Given the description of an element on the screen output the (x, y) to click on. 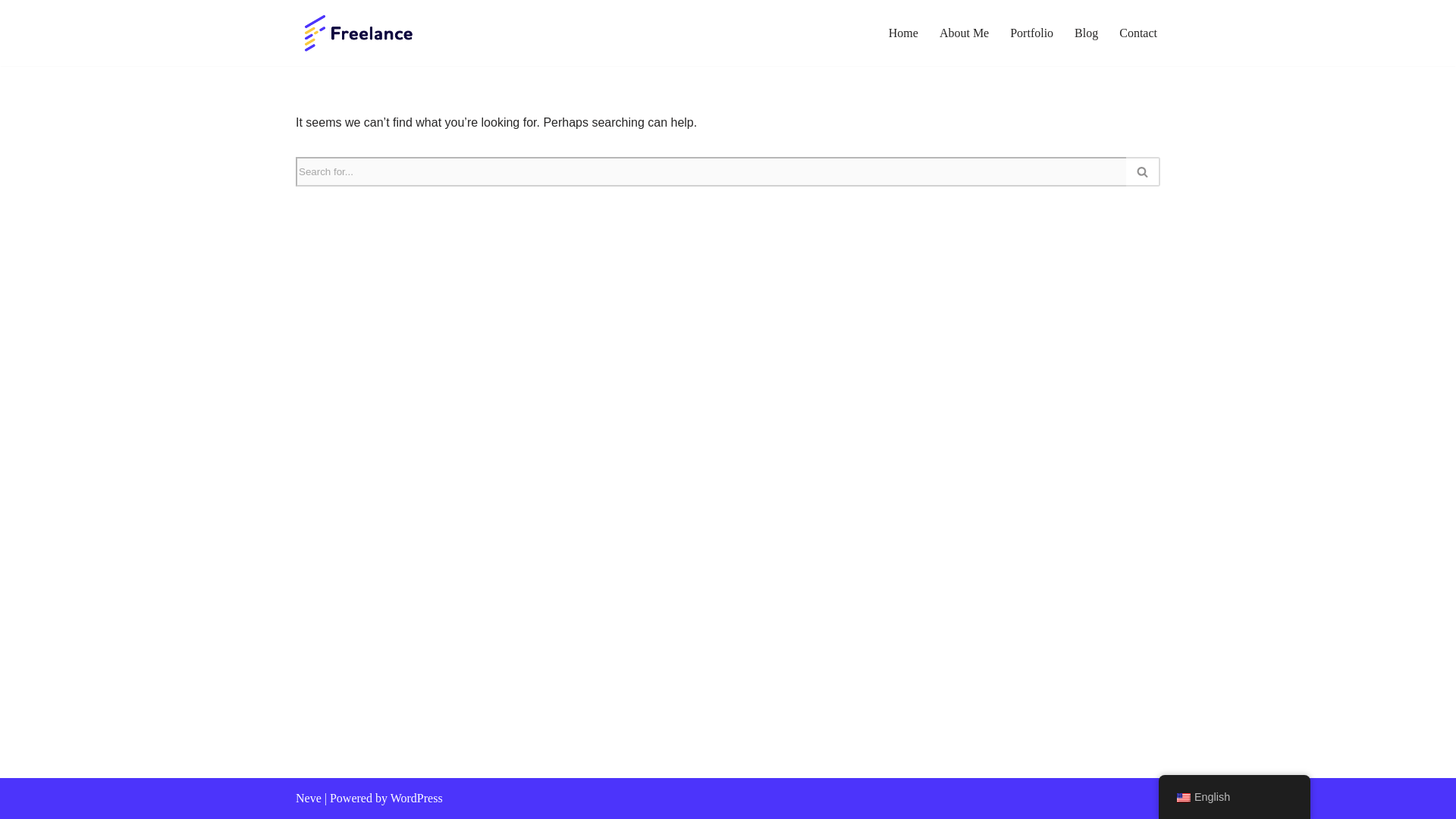
Blog (1085, 32)
Contact (1138, 32)
WordPress (416, 797)
English (1234, 796)
Home (903, 32)
Neve (308, 797)
Portfolio (1031, 32)
English (1183, 797)
Skip to content (11, 31)
About Me (963, 32)
